Given the description of an element on the screen output the (x, y) to click on. 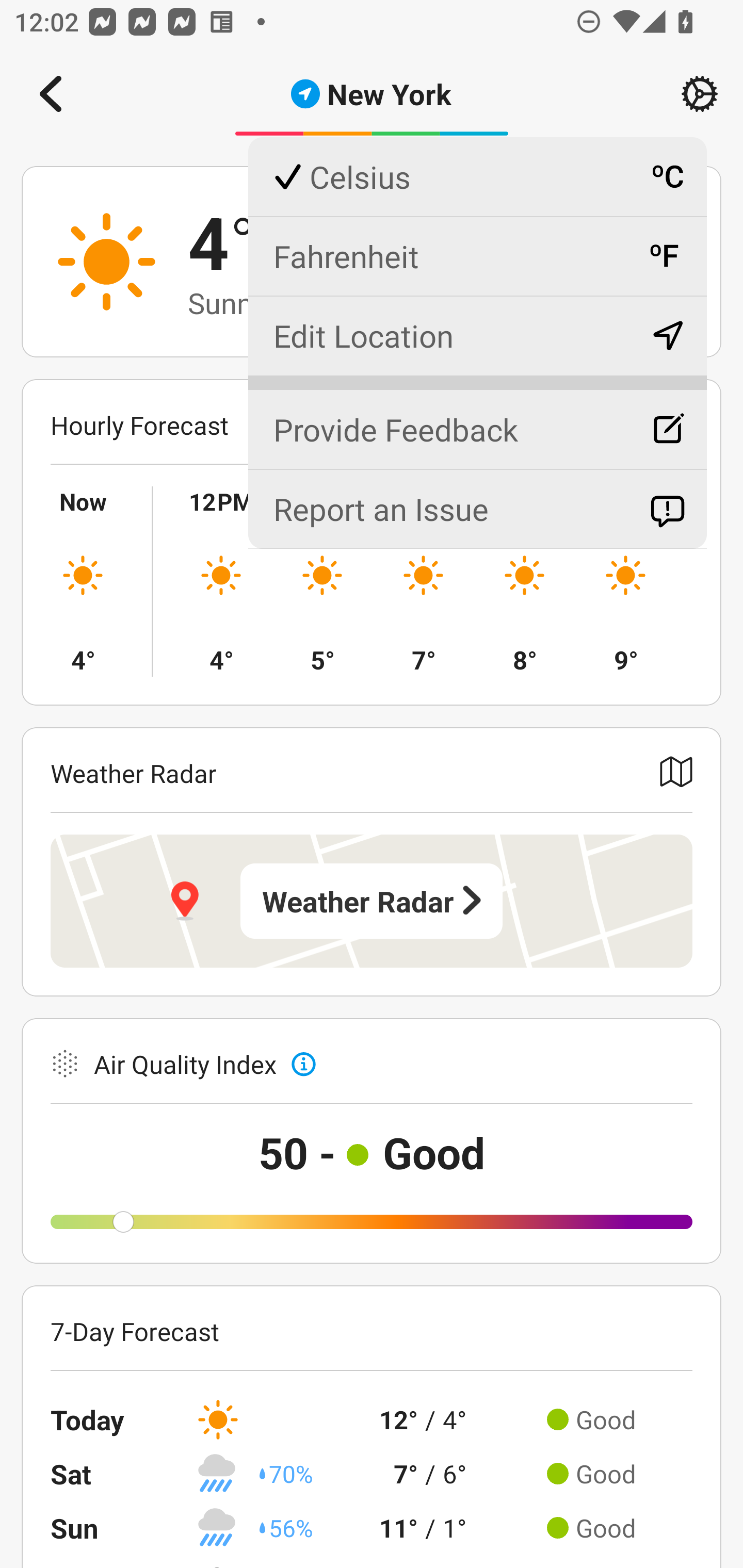
Celsius (477, 176)
Fahrenheit (477, 256)
Edit Location (477, 335)
Provide Feedback (477, 421)
Report an Issue (477, 508)
